Given the description of an element on the screen output the (x, y) to click on. 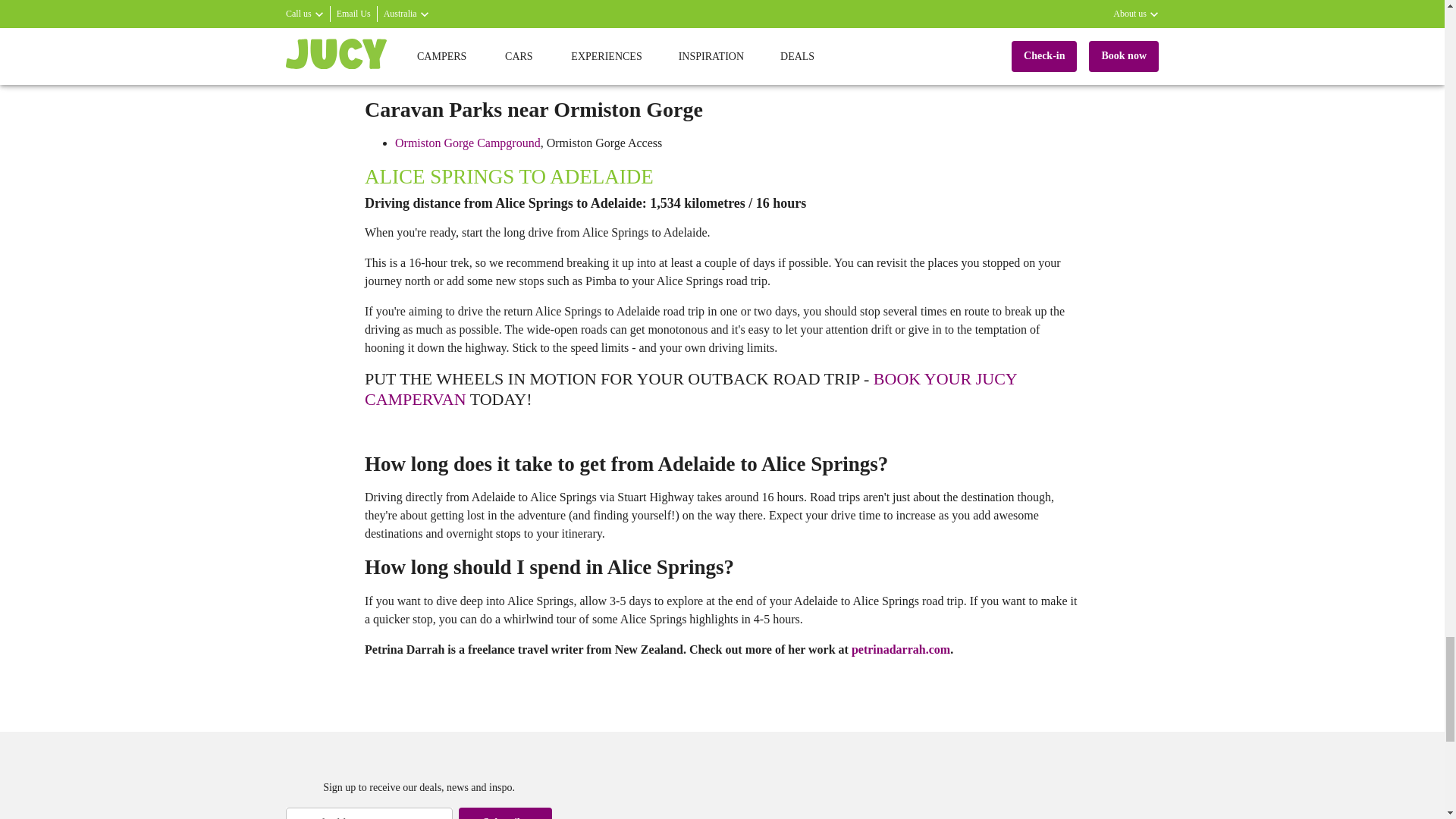
Subscribe (504, 813)
BOOK YOUR JUCY CAMPERVAN (690, 388)
Ormiston Gorge Campground (467, 142)
petrinadarrah.com (900, 649)
